Given the description of an element on the screen output the (x, y) to click on. 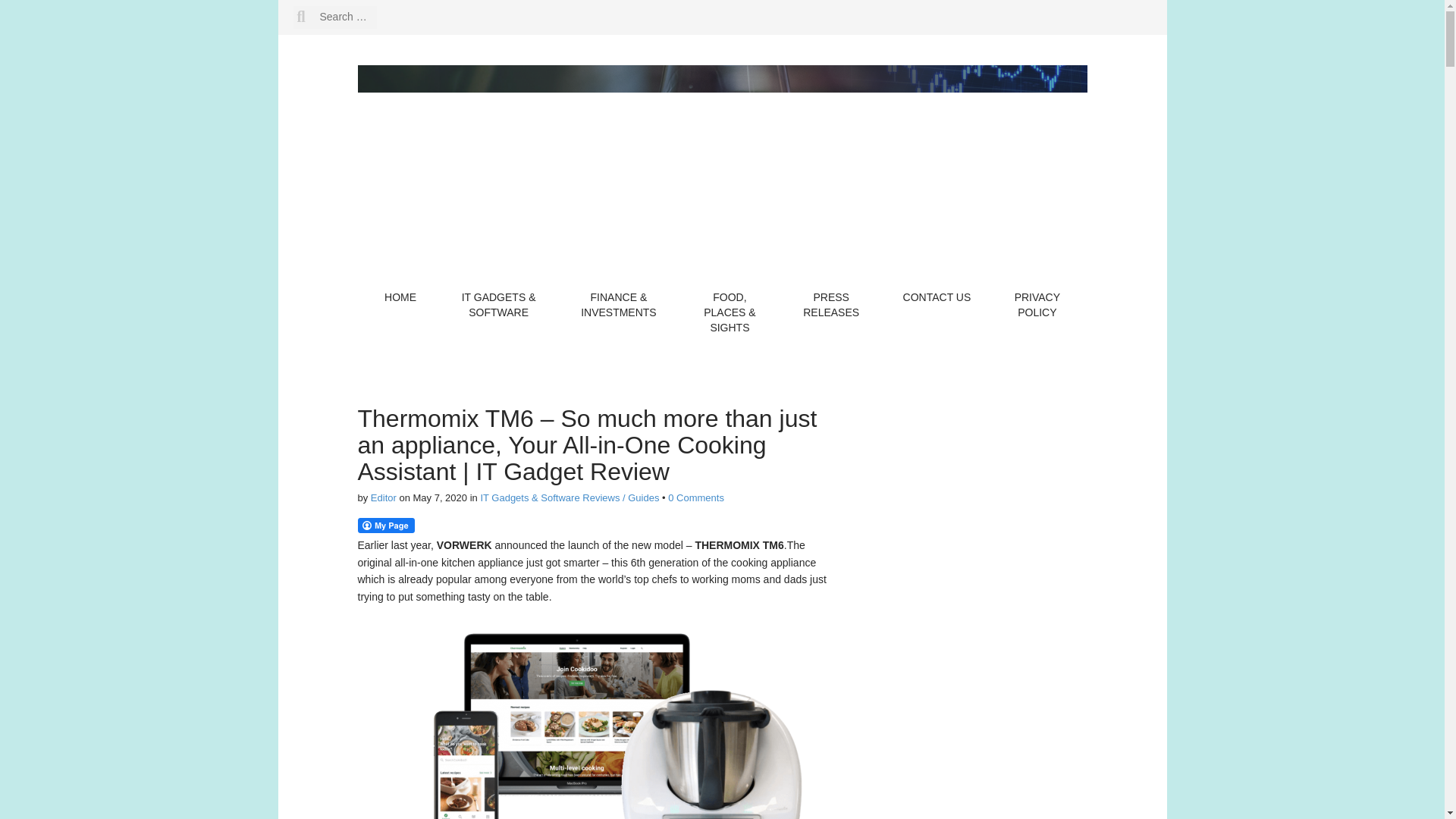
CONTACT US (936, 297)
HOME (400, 297)
PRESS RELEASES (831, 305)
Search (41, 11)
Posts by Editor (383, 497)
PRIVACY POLICY (1037, 305)
May 7, 2020 (439, 497)
Editor (383, 497)
0 Comments (695, 497)
